Given the description of an element on the screen output the (x, y) to click on. 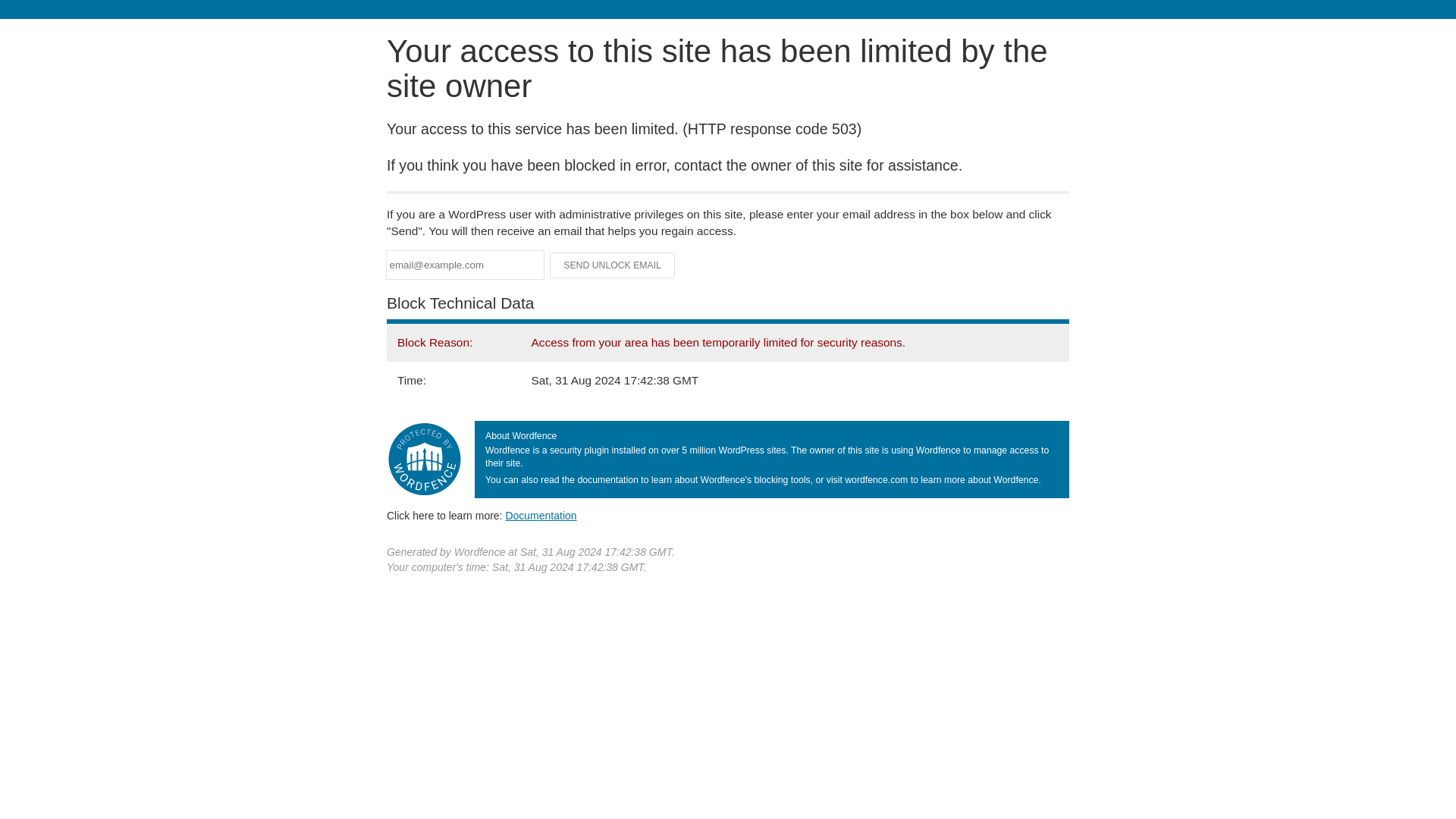
Documentation (540, 515)
Send Unlock Email (612, 265)
Send Unlock Email (612, 265)
